Given the description of an element on the screen output the (x, y) to click on. 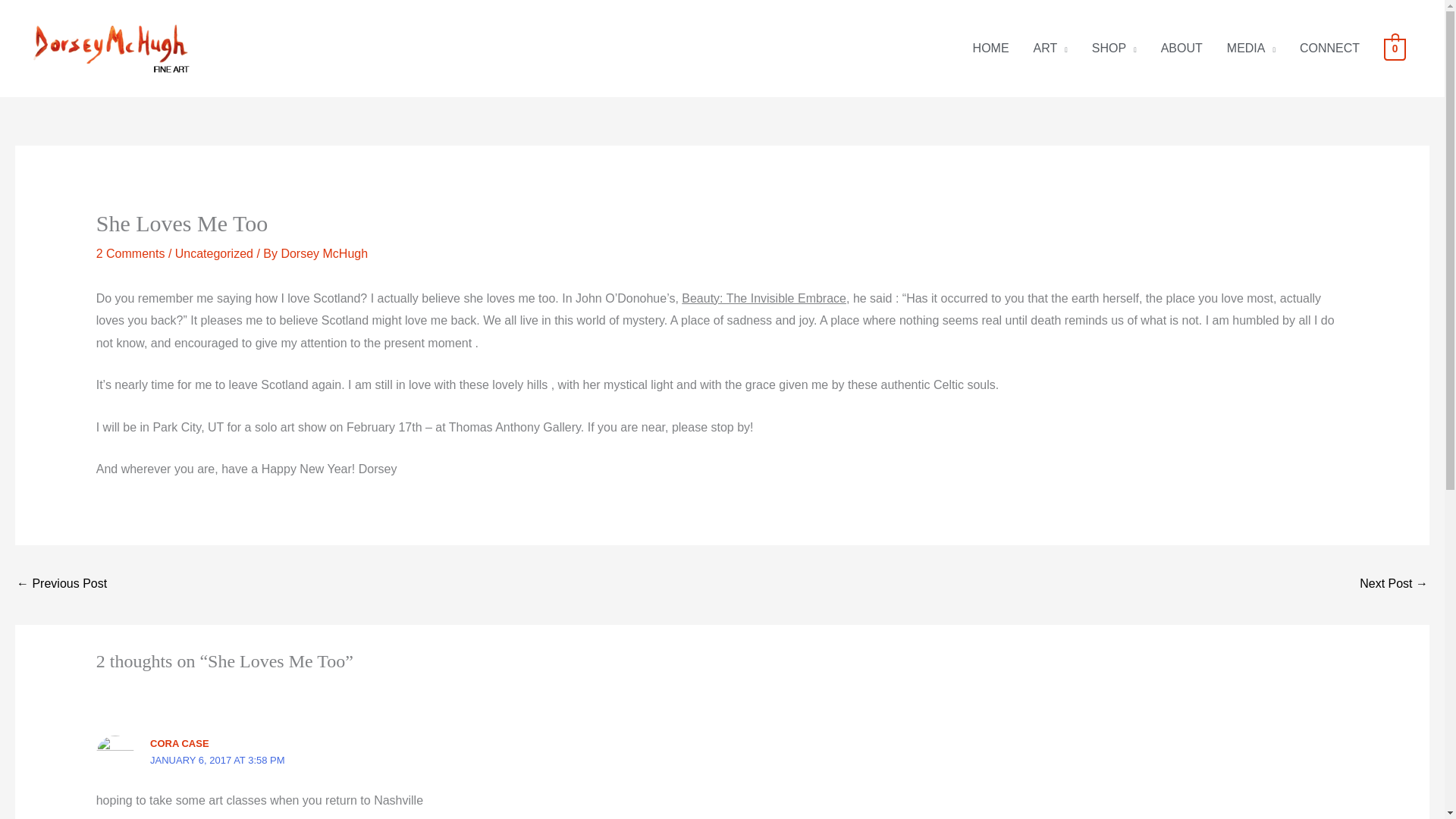
0 (1395, 47)
MEDIA (1250, 48)
View all posts by Dorsey McHugh (324, 253)
HOME (991, 48)
2 Comments (130, 253)
SHOP (1114, 48)
Uncategorized (213, 253)
